Given the description of an element on the screen output the (x, y) to click on. 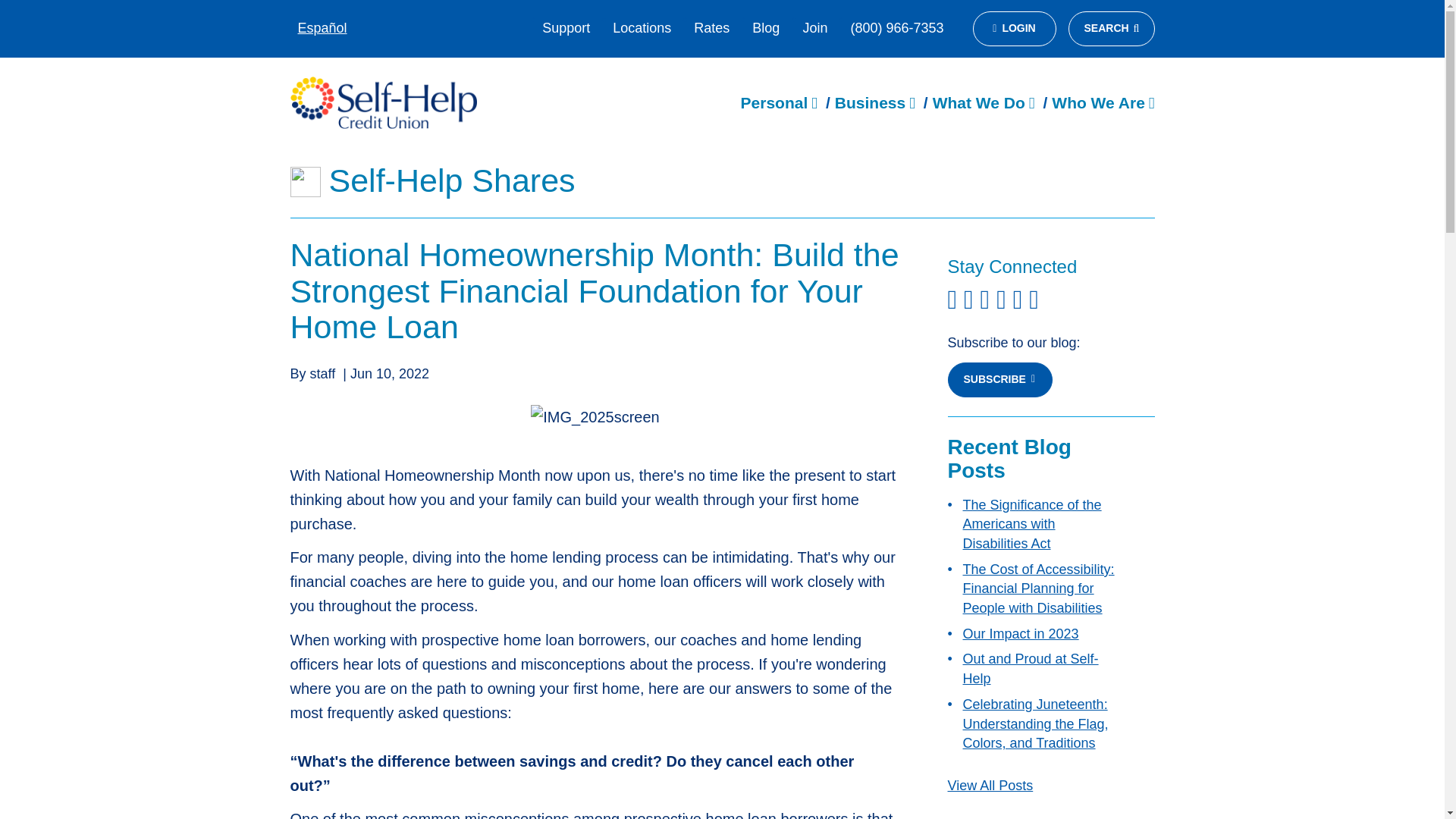
Support (565, 28)
Personal (778, 102)
Join (814, 28)
Rates (710, 28)
Personal (778, 102)
Blog (765, 28)
Locations (641, 28)
LOGIN (1013, 28)
